Given the description of an element on the screen output the (x, y) to click on. 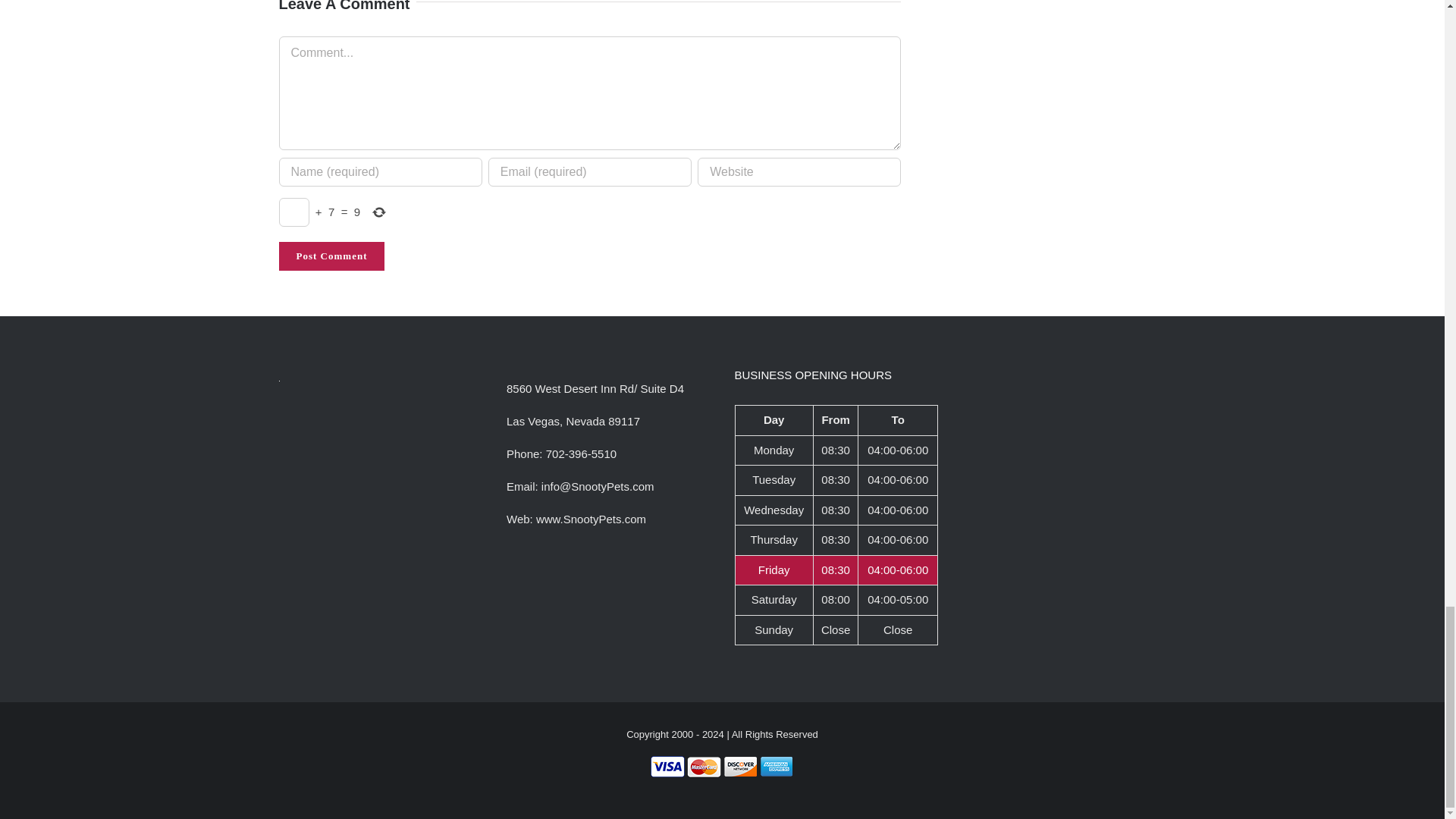
Post Comment (332, 256)
